Given the description of an element on the screen output the (x, y) to click on. 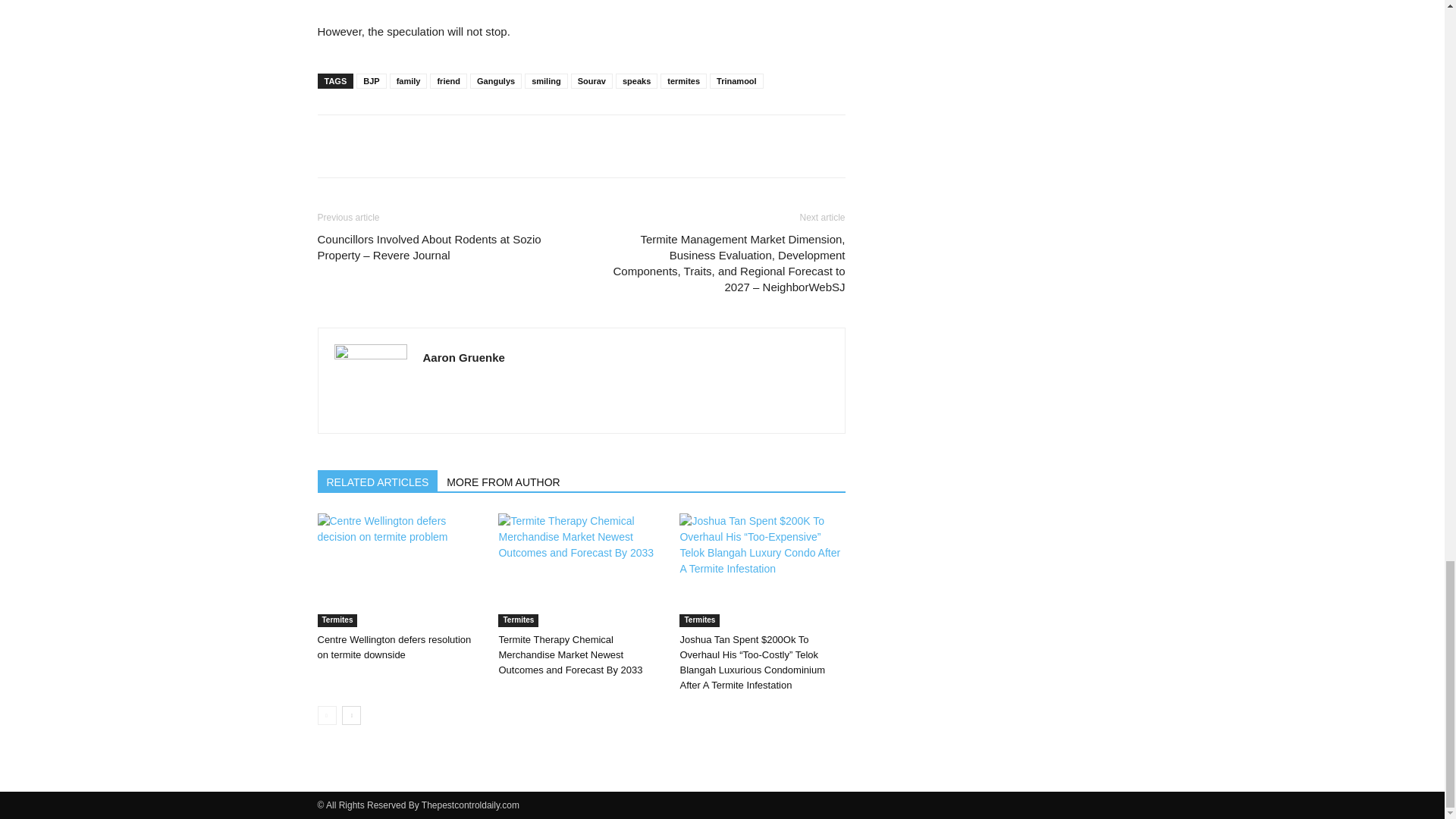
Centre Wellington defers resolution on termite downside (393, 646)
Centre Wellington defers resolution on termite downside (399, 570)
